Given the description of an element on the screen output the (x, y) to click on. 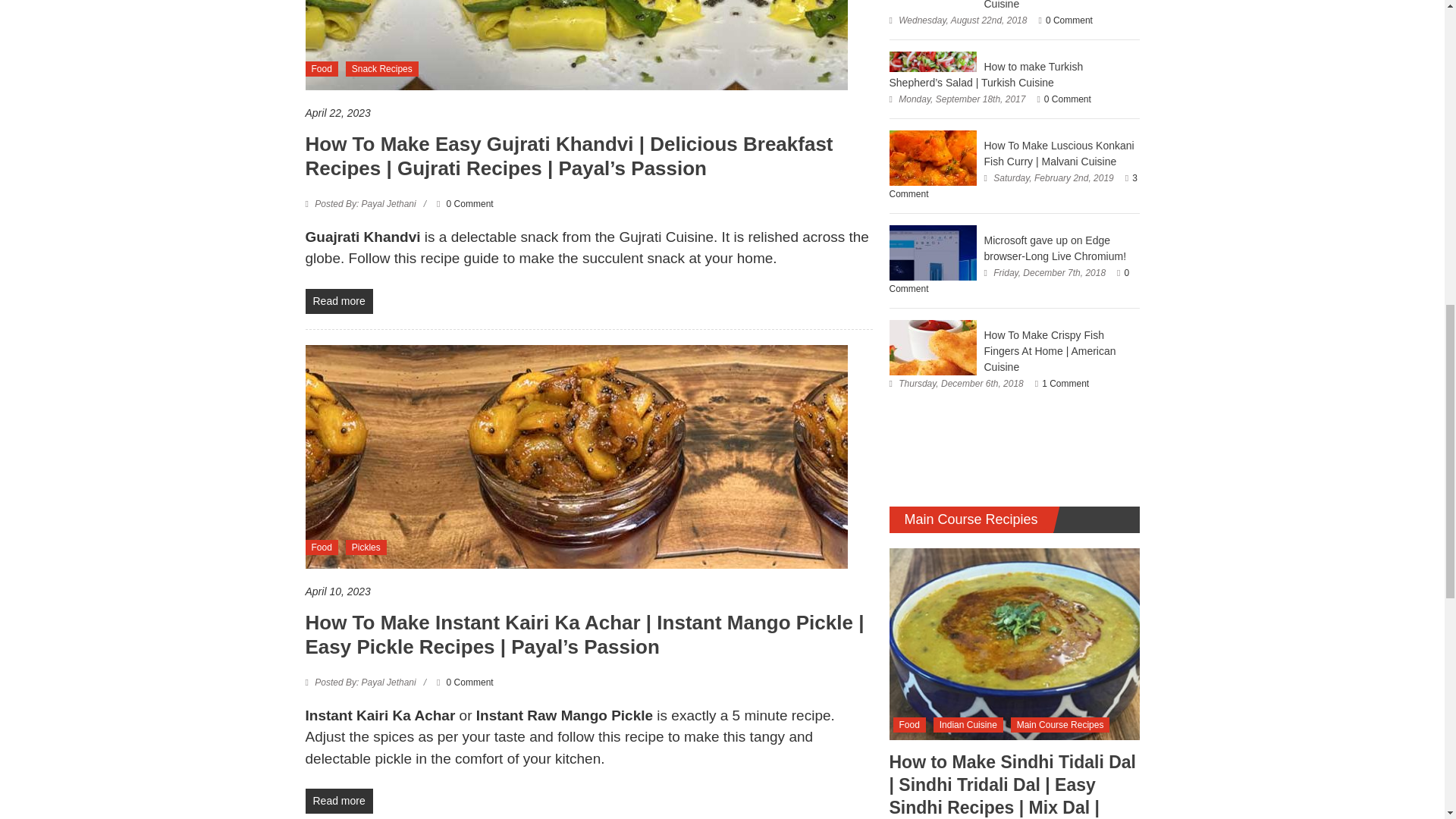
2:21 PM (588, 591)
8:01 PM (588, 113)
